Given the description of an element on the screen output the (x, y) to click on. 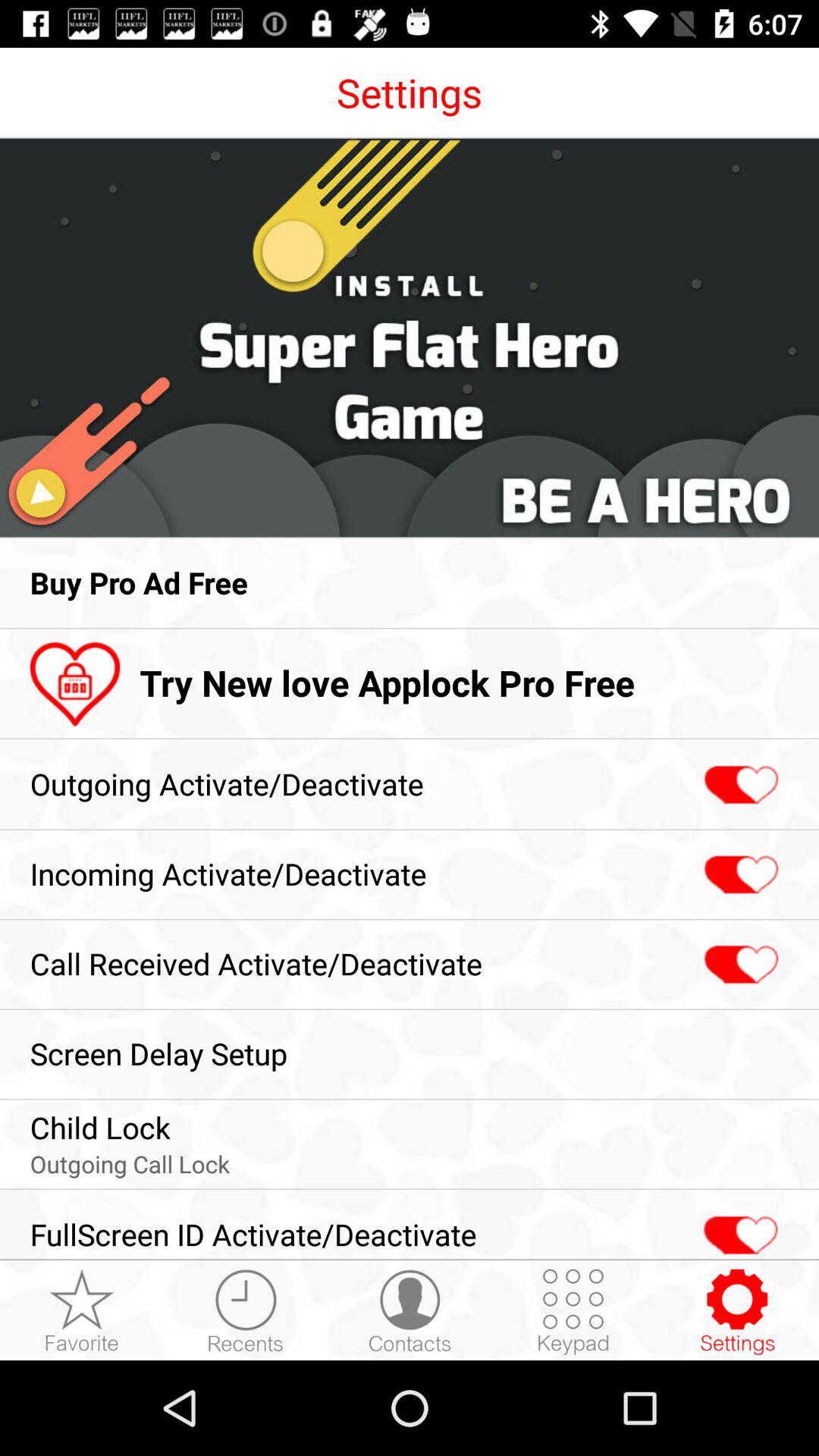
opens recents menu (245, 1311)
